Given the description of an element on the screen output the (x, y) to click on. 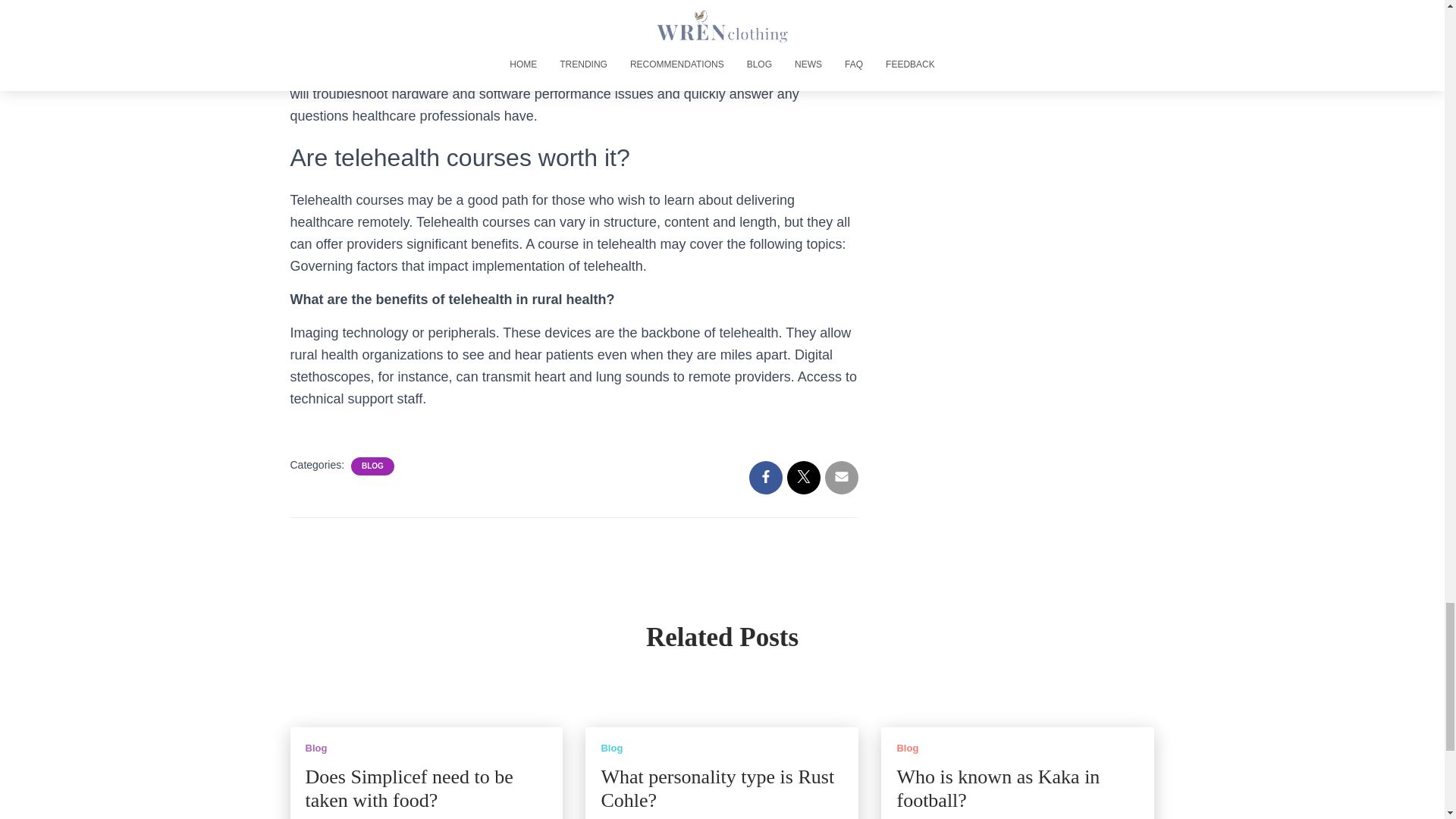
Blog (315, 747)
BLOG (372, 466)
